Given the description of an element on the screen output the (x, y) to click on. 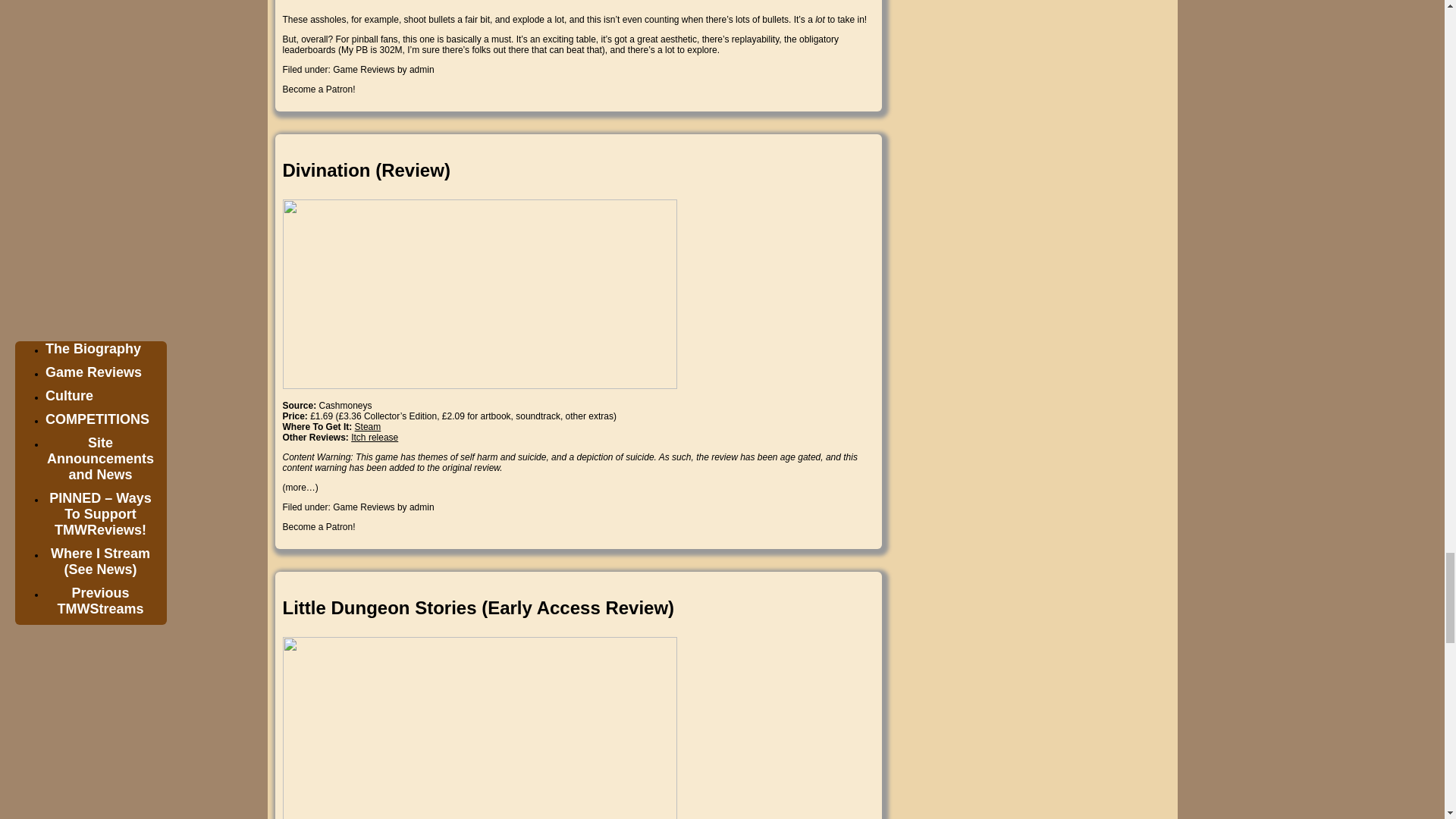
Become a Patron! (318, 89)
Itch release (373, 437)
Become a Patron! (318, 526)
Game Reviews (363, 507)
Steam (368, 426)
Game Reviews (363, 69)
